Given the description of an element on the screen output the (x, y) to click on. 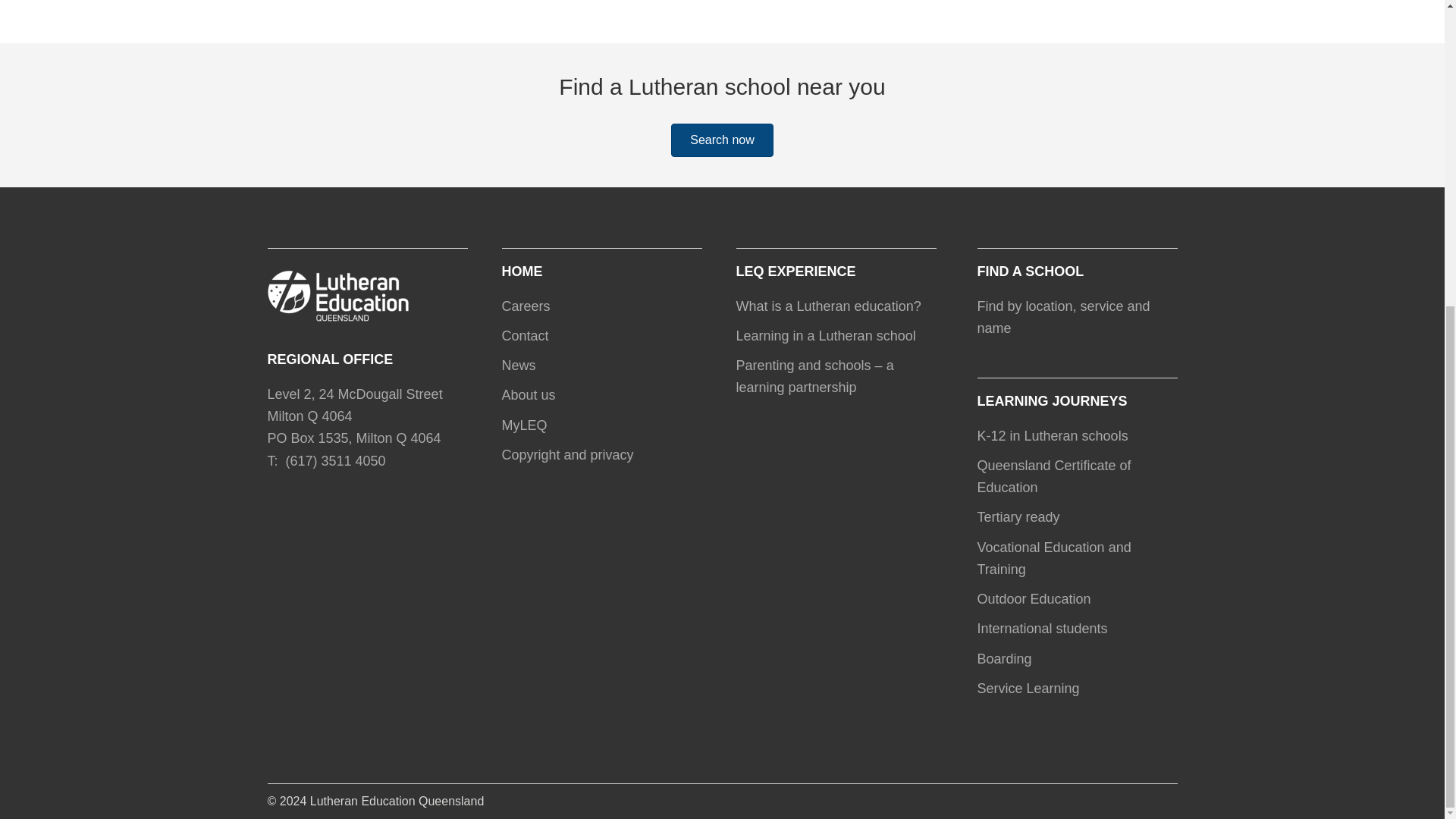
Lutheran Education Queensland (397, 800)
